Given the description of an element on the screen output the (x, y) to click on. 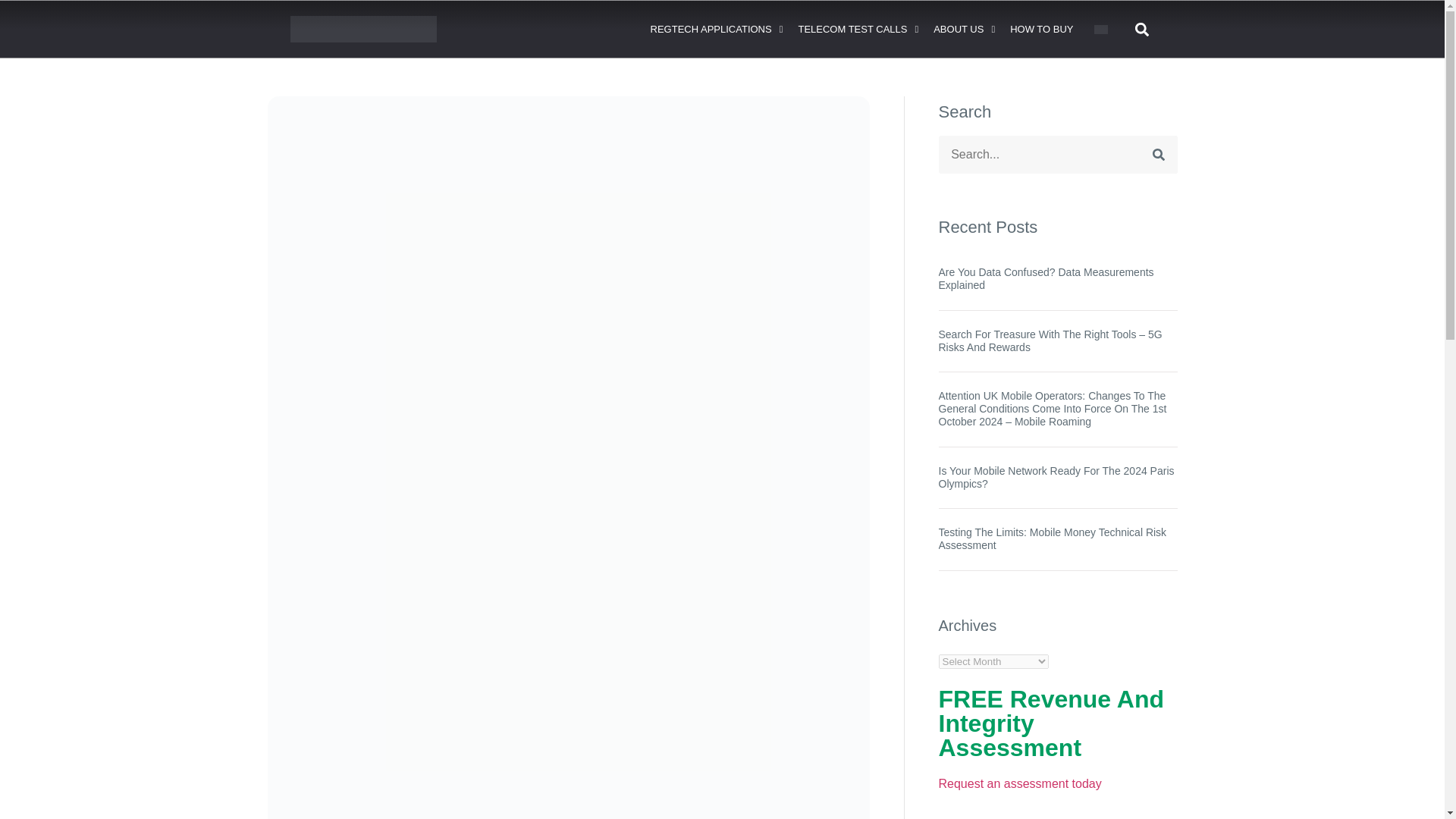
REGTECH APPLICATIONS (716, 29)
TELECOM TEST CALLS (858, 29)
